Given the description of an element on the screen output the (x, y) to click on. 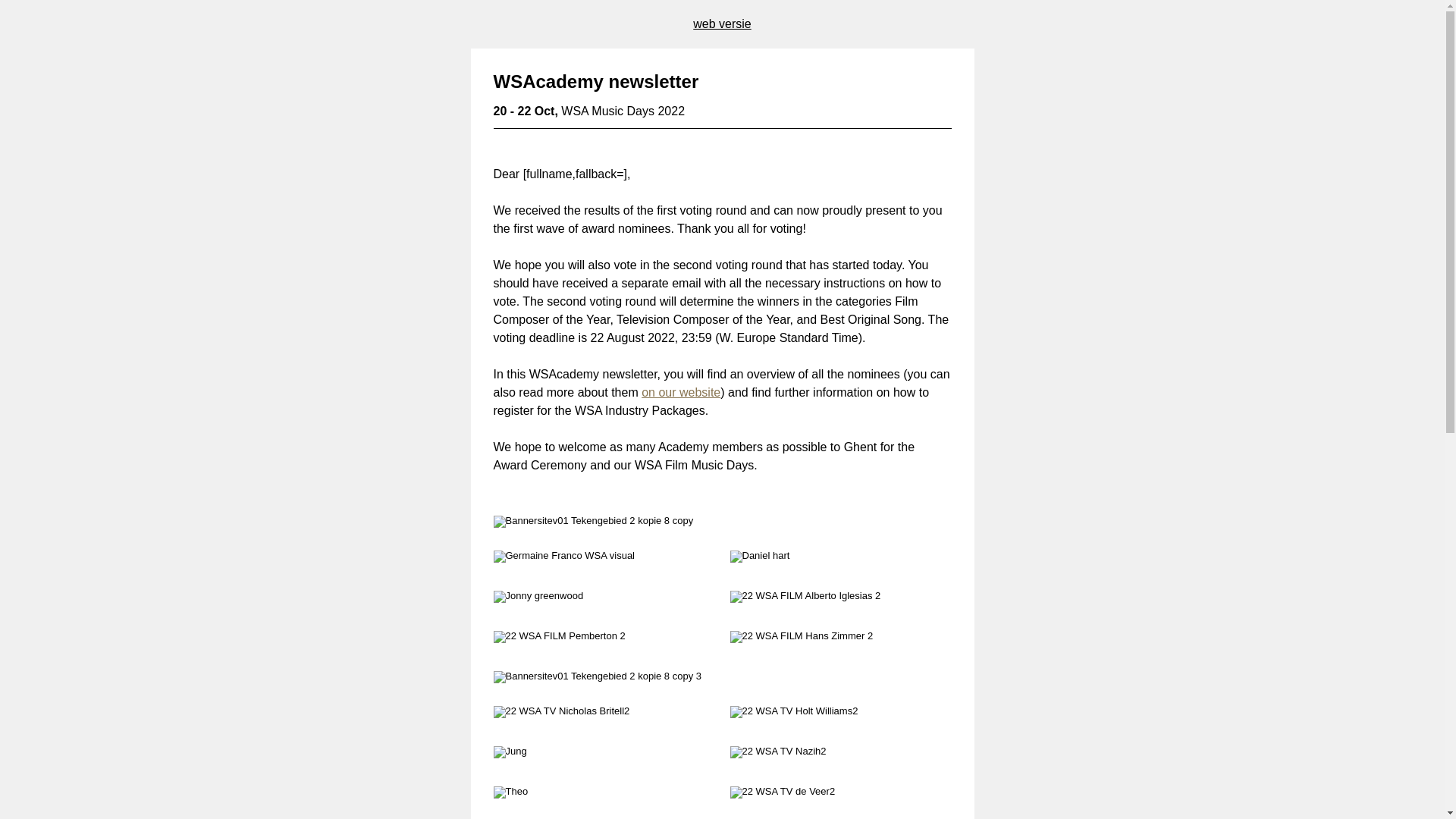
on our website (681, 393)
